Given the description of an element on the screen output the (x, y) to click on. 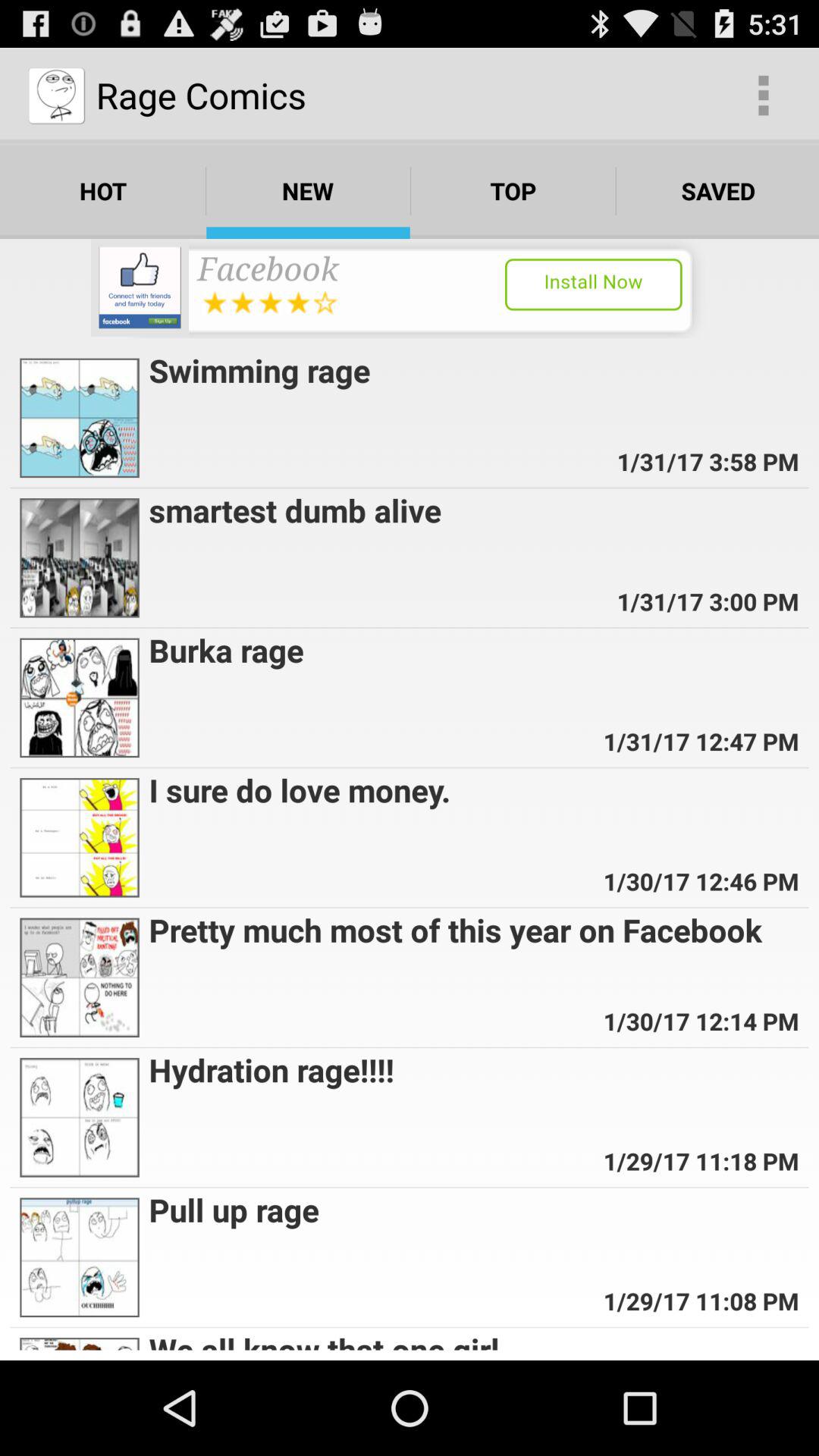
click install (409, 288)
